Given the description of an element on the screen output the (x, y) to click on. 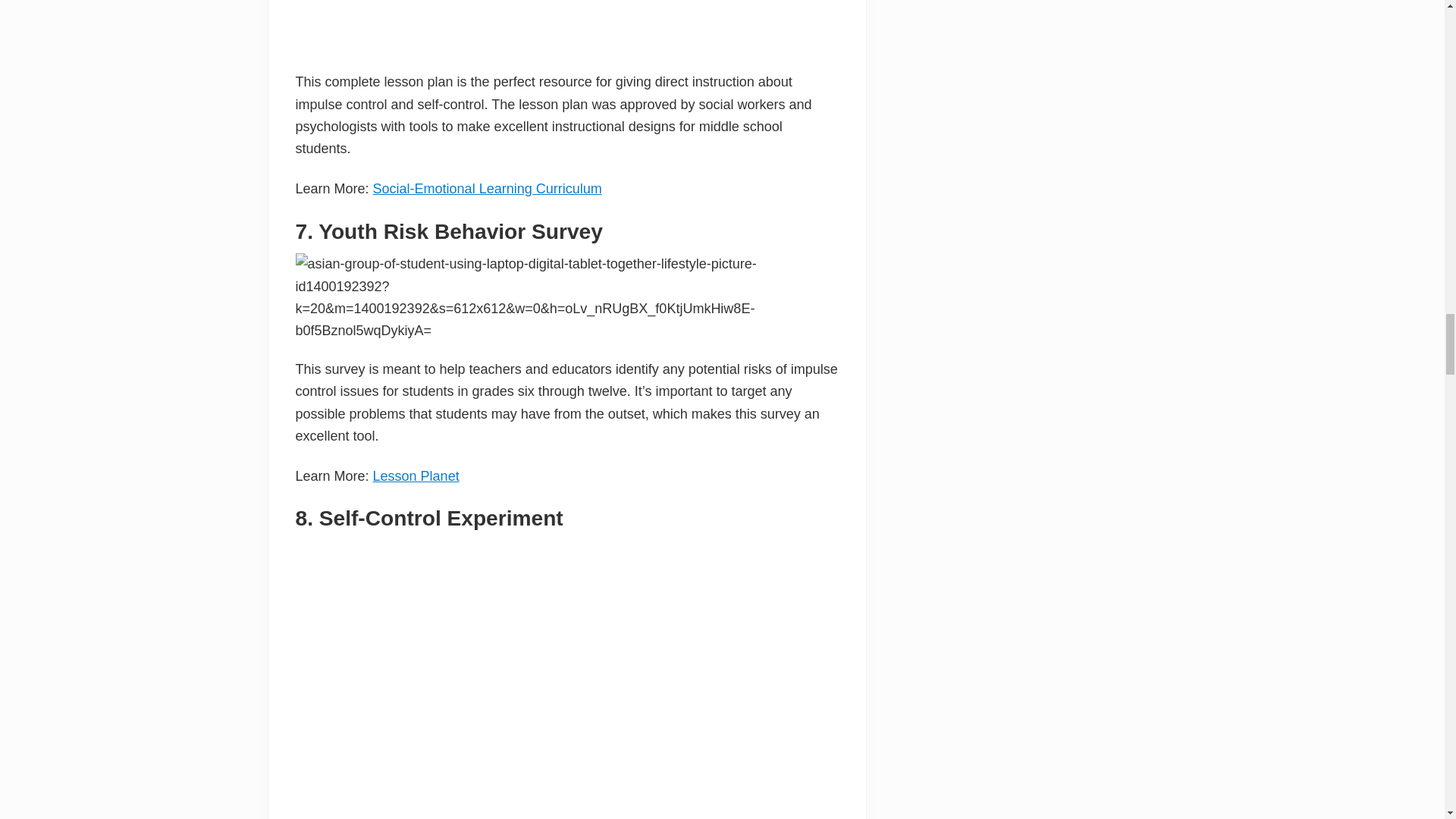
Lesson Planet (416, 476)
Social-Emotional Learning Curriculum (487, 188)
Screenshot 2022-10-13 154758 (566, 27)
